Given the description of an element on the screen output the (x, y) to click on. 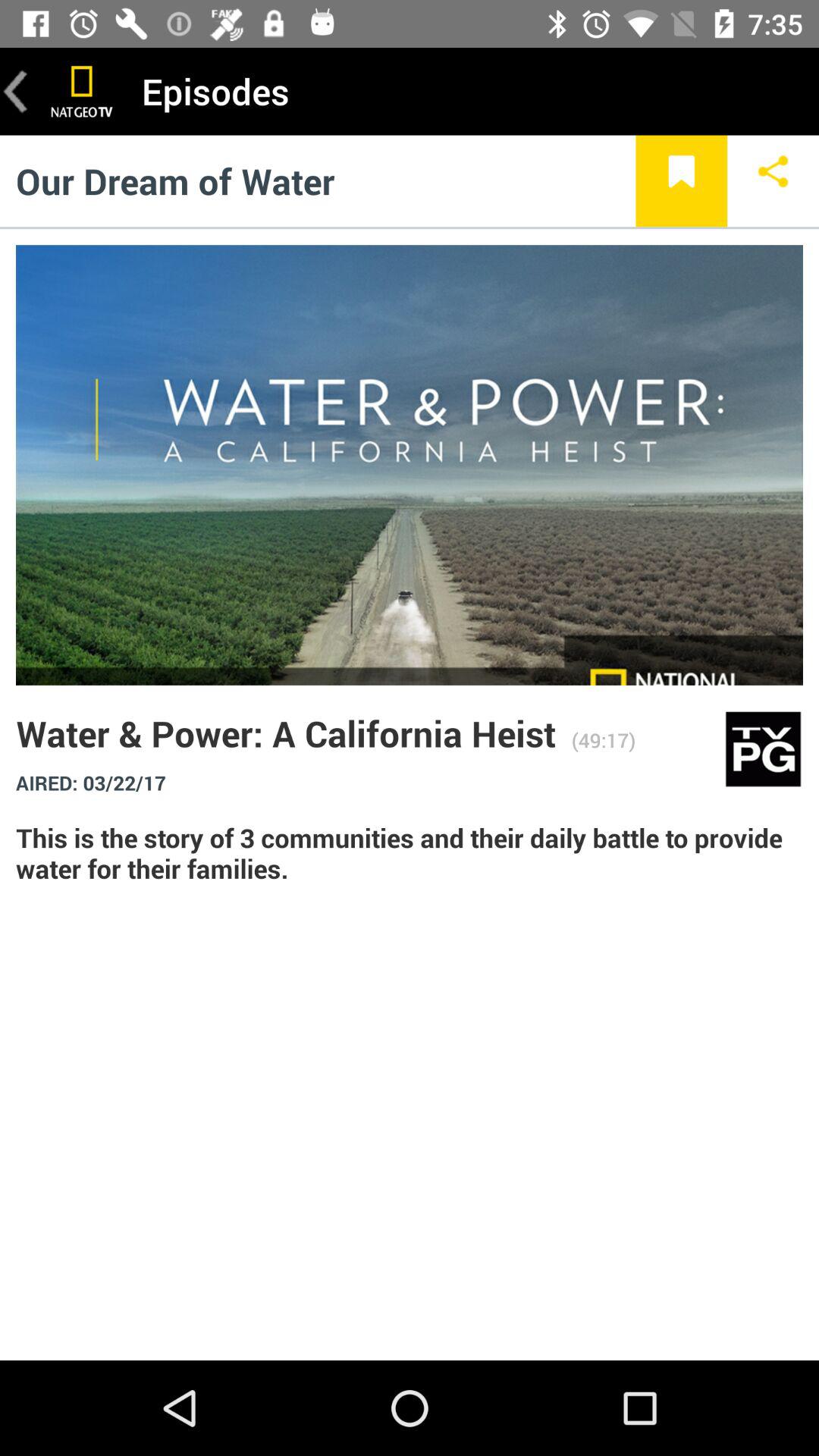
press the item below the episodes (773, 180)
